Given the description of an element on the screen output the (x, y) to click on. 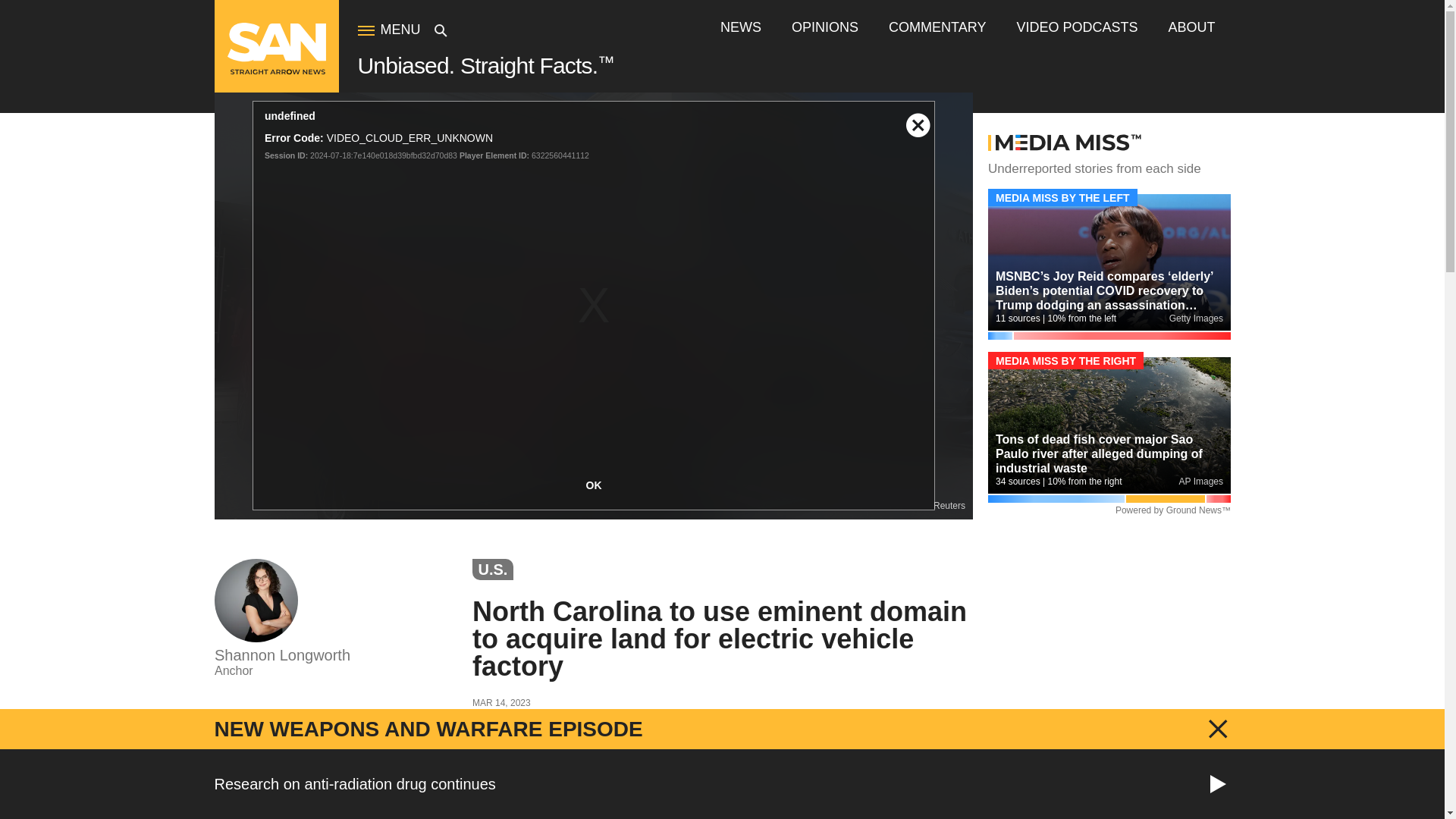
Home (276, 70)
COMMENTARY (936, 27)
VIDEO PODCASTS (1076, 27)
OPINIONS (825, 27)
NEWS (740, 27)
Close Modal Dialog (918, 117)
ABOUT (1190, 27)
